Given the description of an element on the screen output the (x, y) to click on. 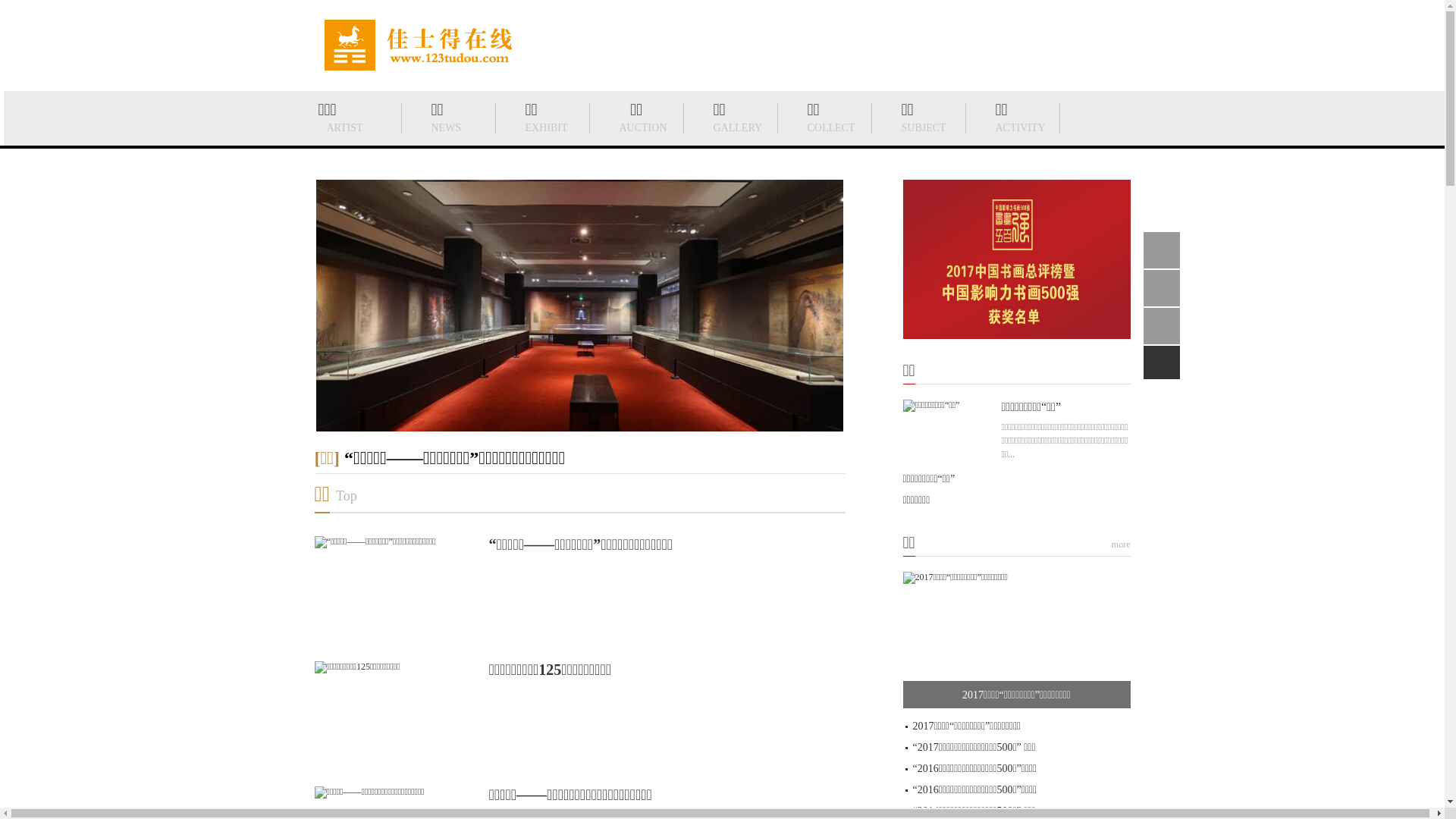
more Element type: text (1120, 544)
qq Element type: text (1167, 250)
gotop Element type: text (1167, 363)
qzone Element type: text (1167, 325)
sina Element type: text (1167, 287)
